Given the description of an element on the screen output the (x, y) to click on. 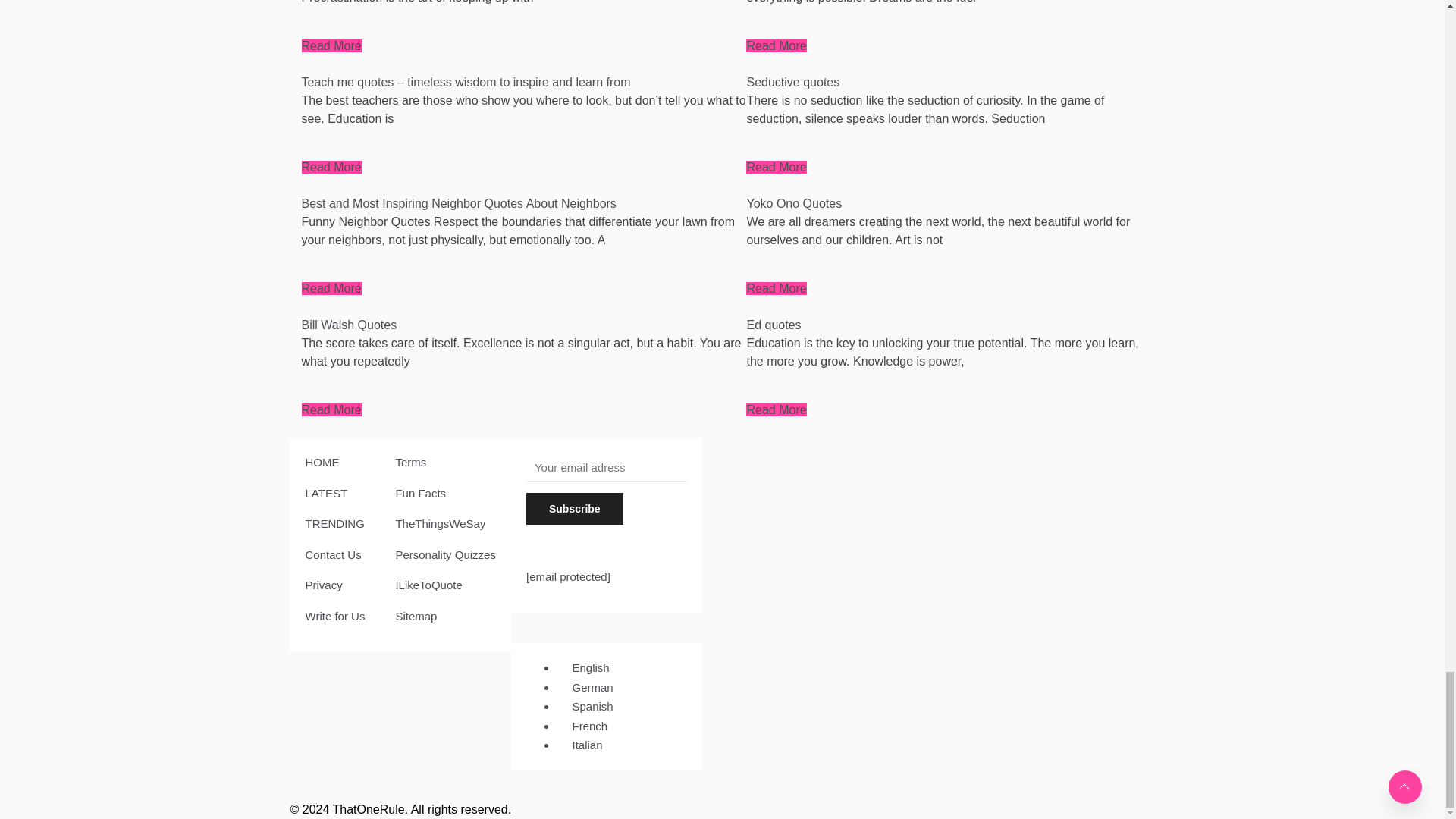
Subscribe (574, 508)
